Given the description of an element on the screen output the (x, y) to click on. 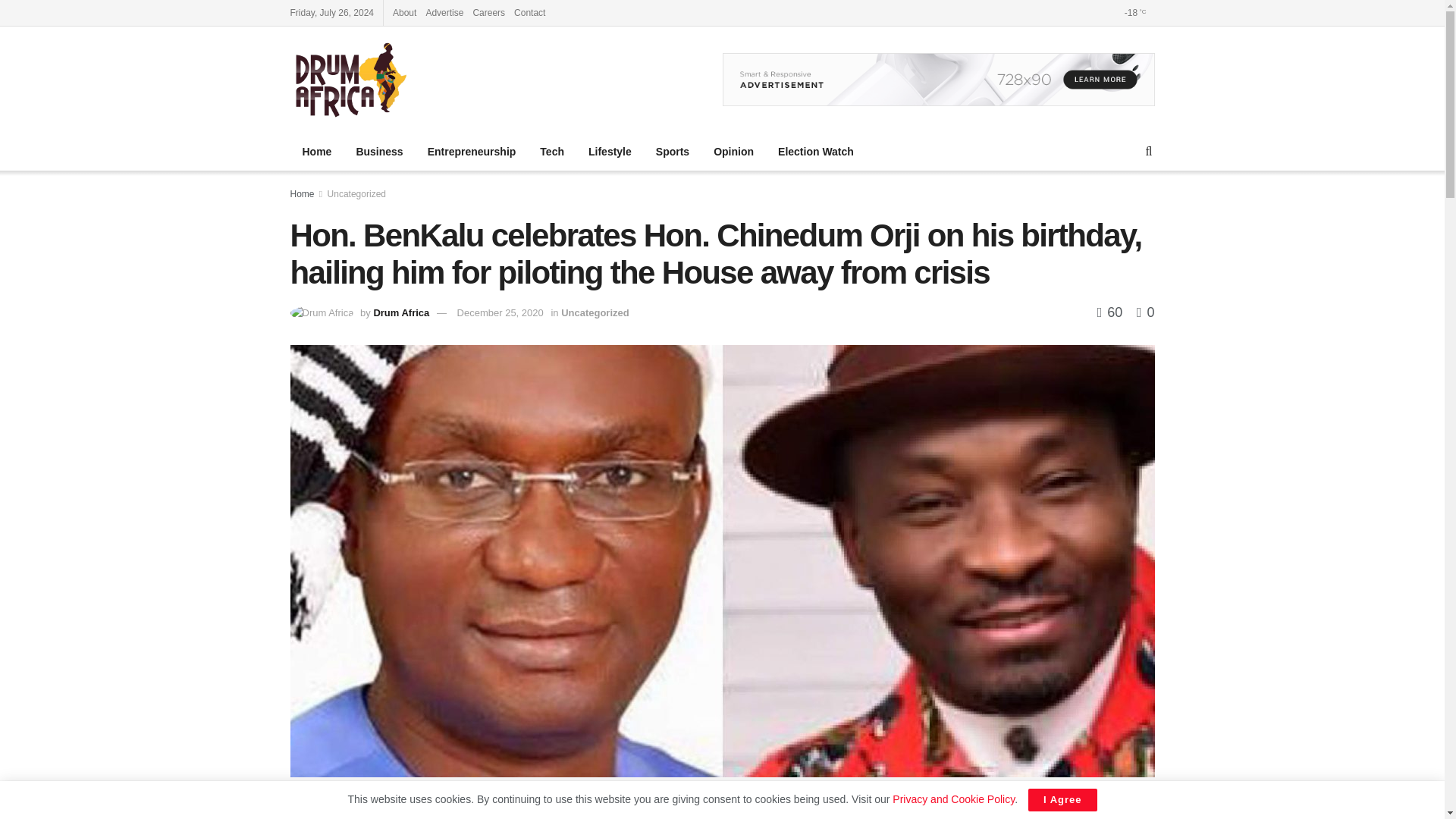
About (404, 12)
Share on Twitter (965, 809)
Home (301, 194)
Advertise (444, 12)
60 (1109, 312)
Uncategorized (594, 312)
Careers (488, 12)
Home (316, 151)
0 (1145, 312)
Contact (528, 12)
Business (378, 151)
Drum Africa (400, 312)
Election Watch (815, 151)
Sports (672, 151)
Uncategorized (356, 194)
